Given the description of an element on the screen output the (x, y) to click on. 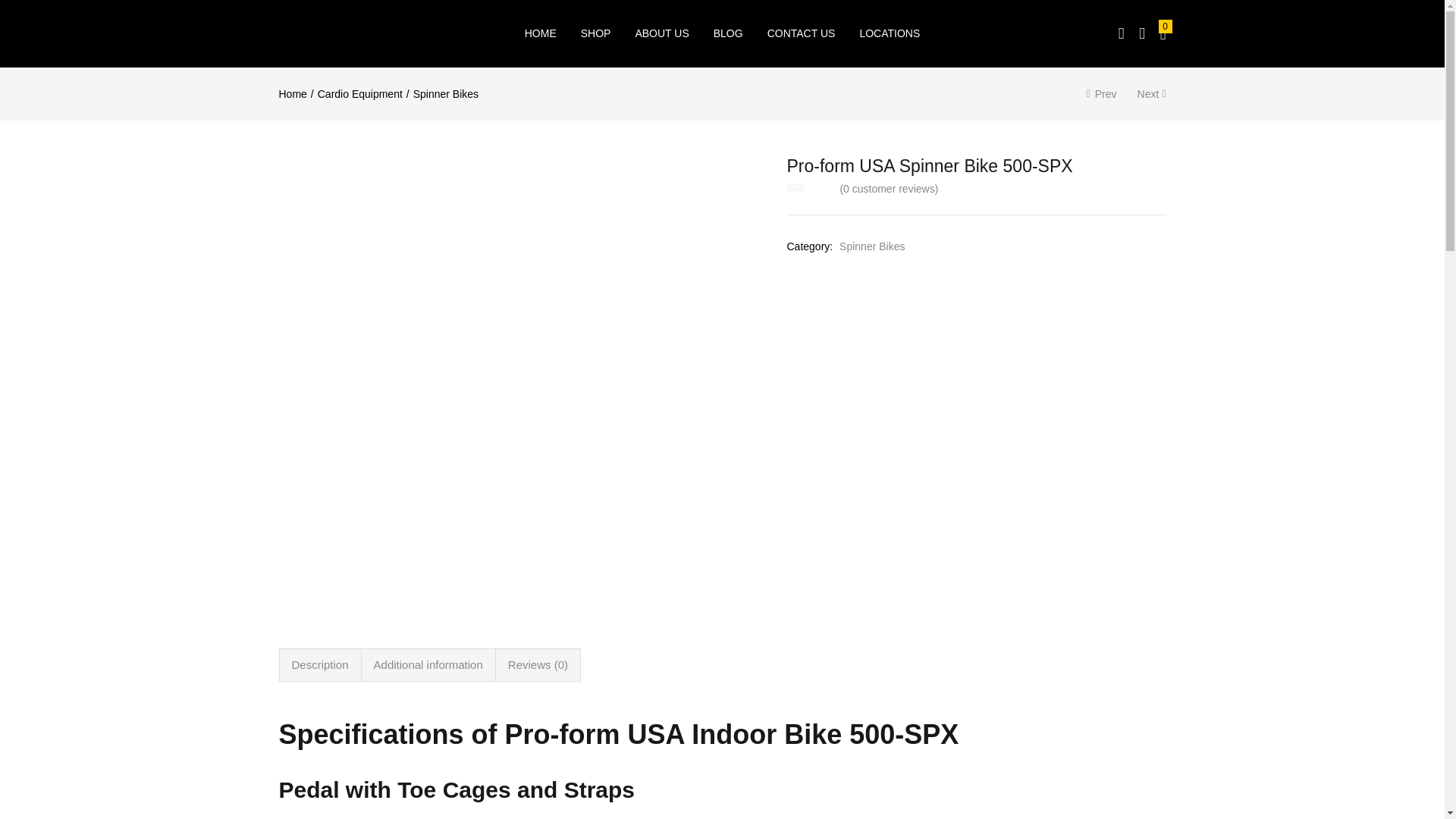
ABOUT US (661, 33)
LOCATIONS (889, 33)
CONTACT US (801, 33)
